Given the description of an element on the screen output the (x, y) to click on. 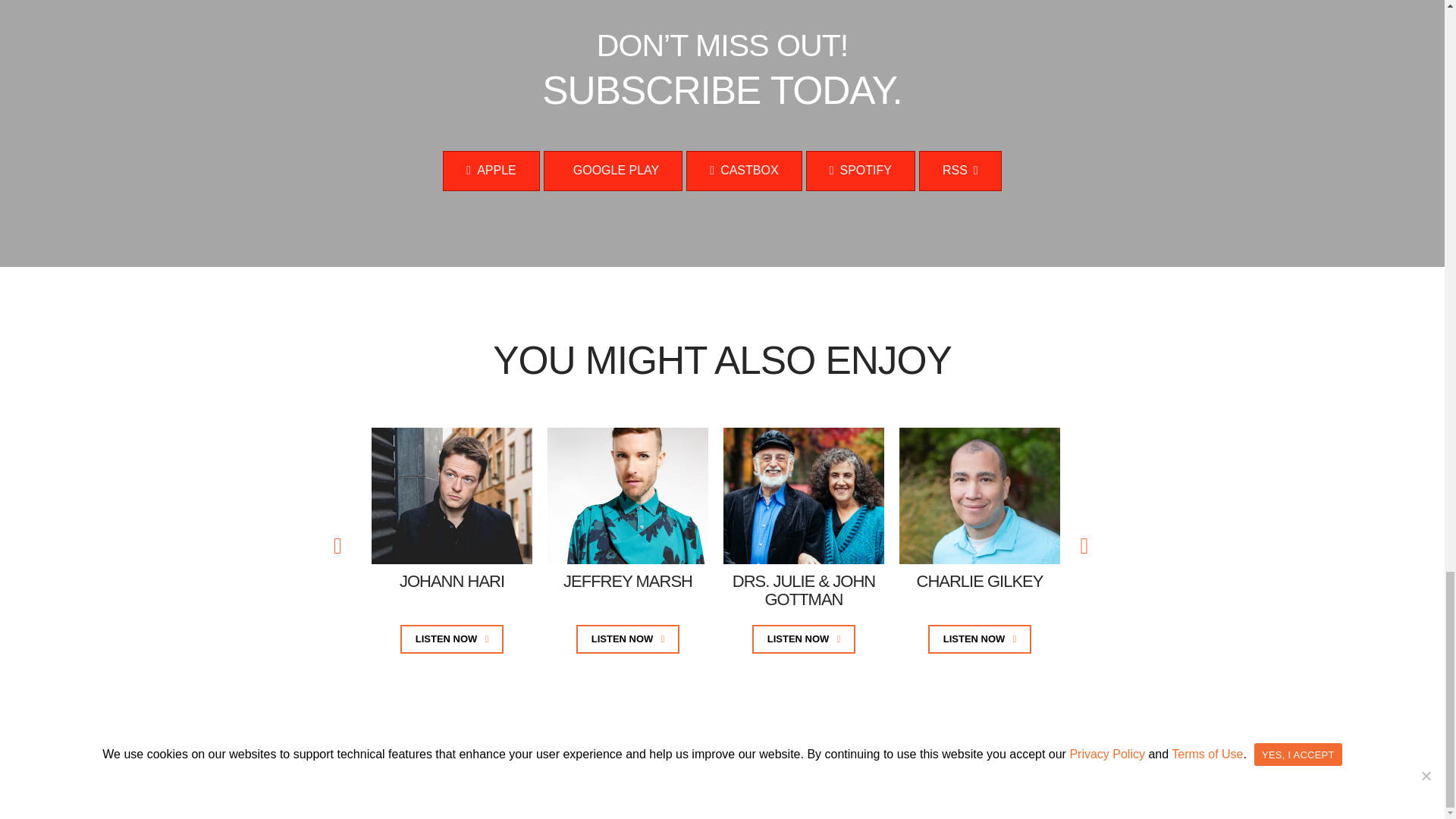
CASTBOX (743, 170)
LISTEN NOW (627, 639)
GOOGLE PLAY (612, 170)
Previous (341, 541)
APPLE (490, 170)
SPOTIFY (860, 170)
RSS (959, 170)
LISTEN NOW (451, 639)
